Given the description of an element on the screen output the (x, y) to click on. 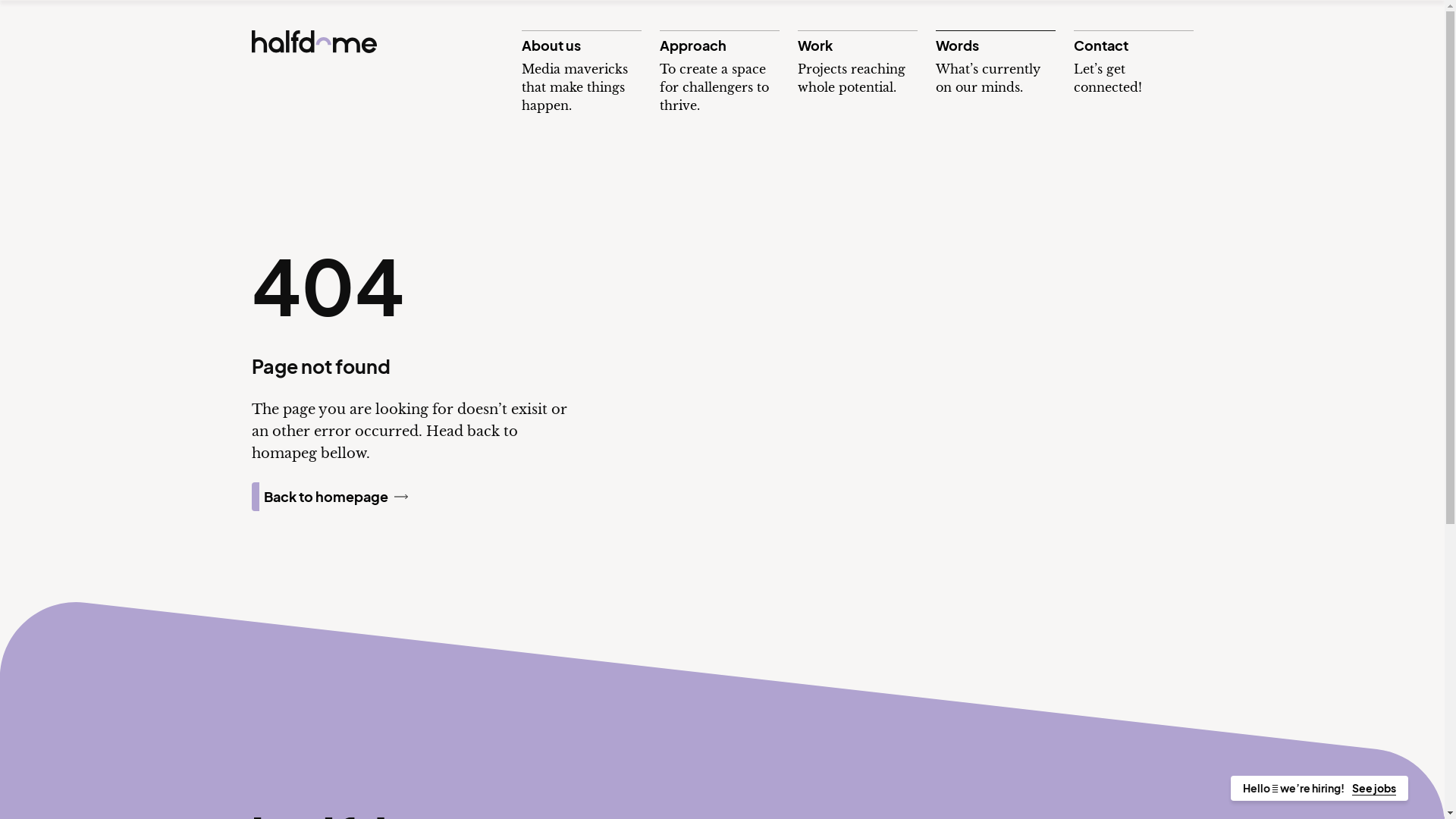
Half Dome Element type: text (313, 41)
Approach
To create a space for challengers to thrive. Element type: text (719, 72)
About us
Media mavericks that make things happen. Element type: text (581, 72)
See jobs Element type: text (1374, 788)
Work
Projects reaching whole potential. Element type: text (857, 63)
Back to homepage Element type: text (335, 496)
